Given the description of an element on the screen output the (x, y) to click on. 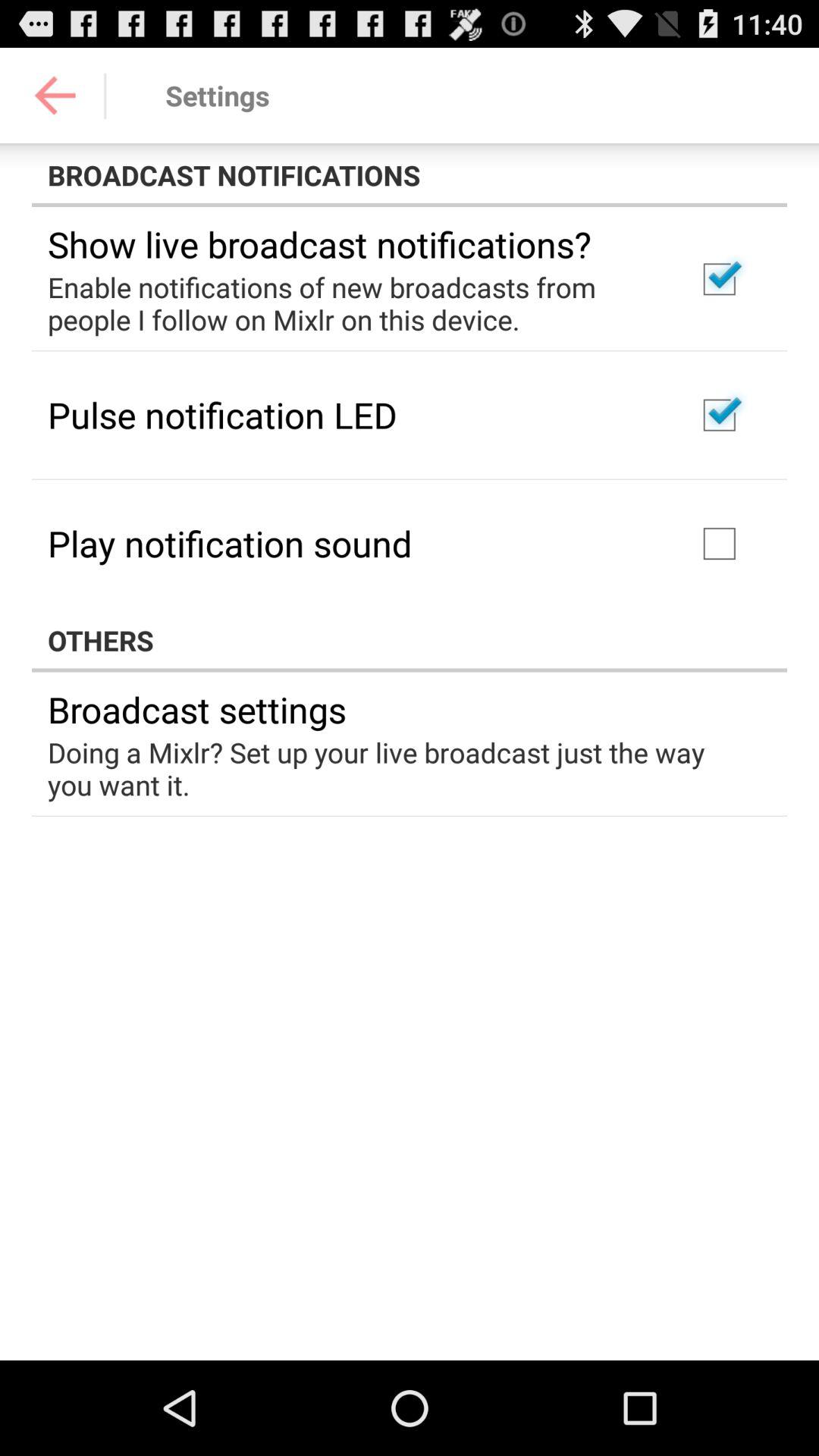
choose pulse notification led item (221, 414)
